Given the description of an element on the screen output the (x, y) to click on. 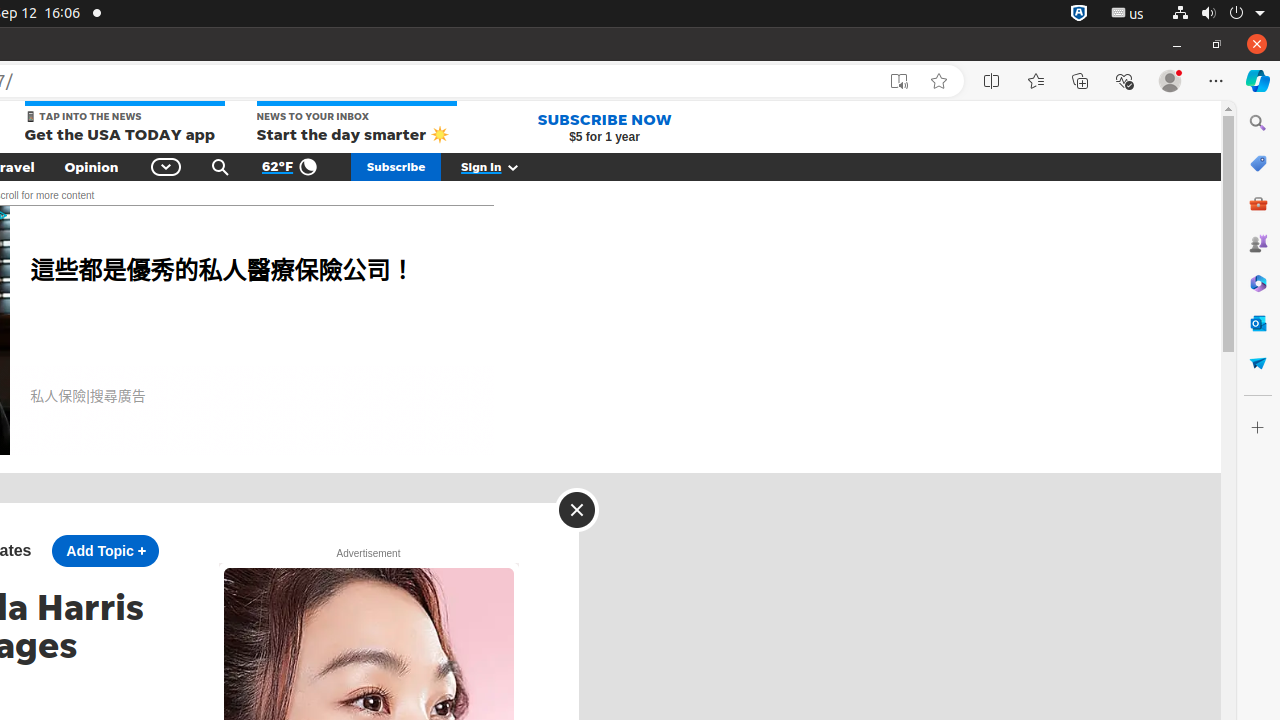
Games Element type: push-button (1258, 243)
Opinion Element type: link (91, 167)
Microsoft Shopping Element type: push-button (1258, 163)
:1.21/StatusNotifierItem Element type: menu (1127, 13)
Tools Element type: push-button (1258, 202)
